Given the description of an element on the screen output the (x, y) to click on. 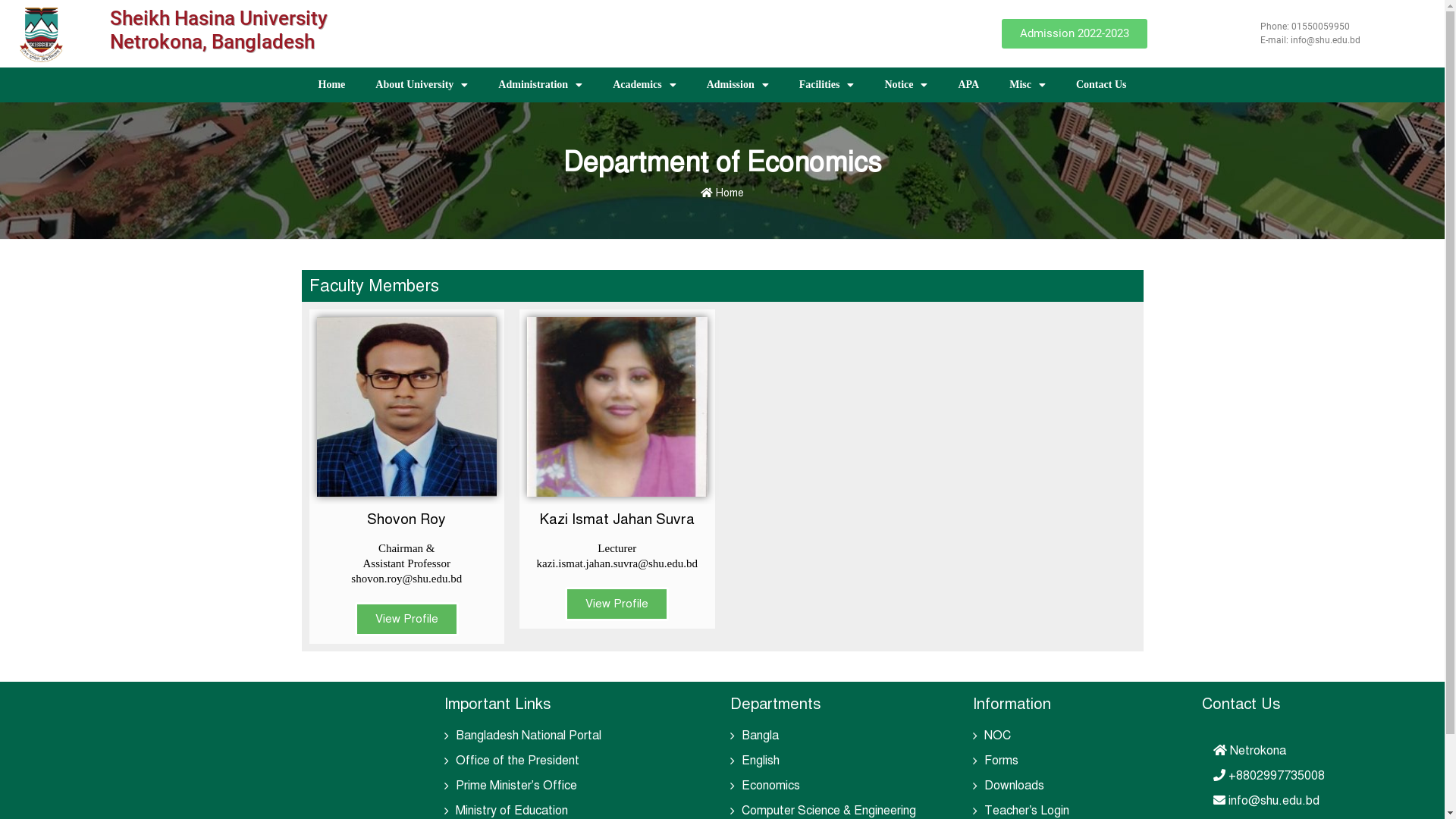
Notice Element type: text (905, 84)
Bangla Element type: text (759, 735)
Contact Us Element type: text (1101, 84)
Admission Element type: text (737, 84)
Office of the President Element type: text (516, 760)
Bangladesh National Portal Element type: text (527, 735)
About University Element type: text (421, 84)
Downloads Element type: text (1014, 785)
Ministry of Education Element type: text (511, 810)
Forms Element type: text (1001, 760)
Sheikh Hasina University Element type: text (218, 17)
Misc Element type: text (1027, 84)
APA Element type: text (968, 84)
Kazi Ismat Jahan Shuvra (Eco) Element type: hover (617, 406)
Facilities Element type: text (826, 84)
Economics Element type: text (770, 785)
Academics Element type: text (644, 84)
Admission 2022-2023 Element type: text (1074, 33)
Shovon Roy Element type: hover (406, 406)
NOC Element type: text (997, 735)
View Profile Element type: text (616, 603)
Computer Science & Engineering Element type: text (828, 810)
Home Element type: text (721, 192)
English Element type: text (760, 760)
Administration Element type: text (540, 84)
View Profile Element type: text (406, 619)
Home Element type: text (331, 84)
